Given the description of an element on the screen output the (x, y) to click on. 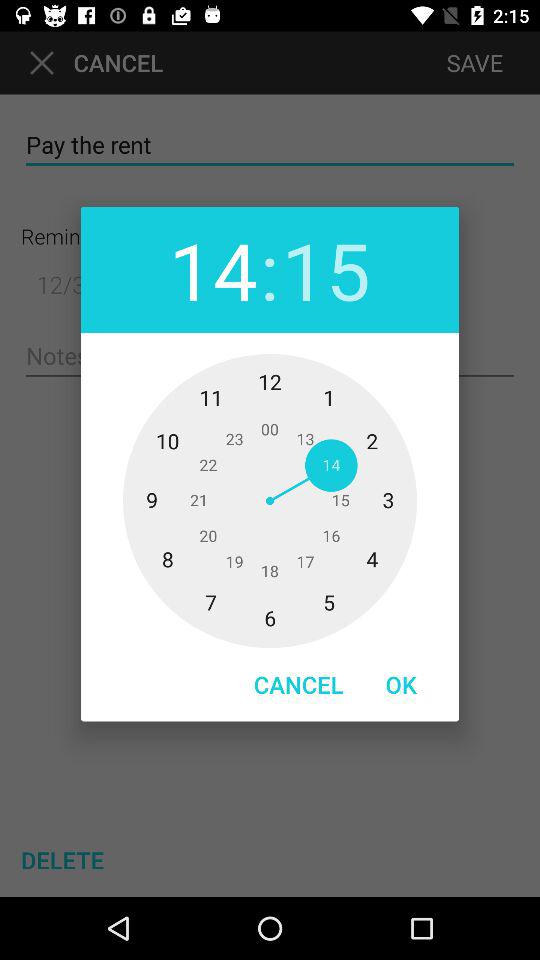
click item to the left of ok item (298, 684)
